Given the description of an element on the screen output the (x, y) to click on. 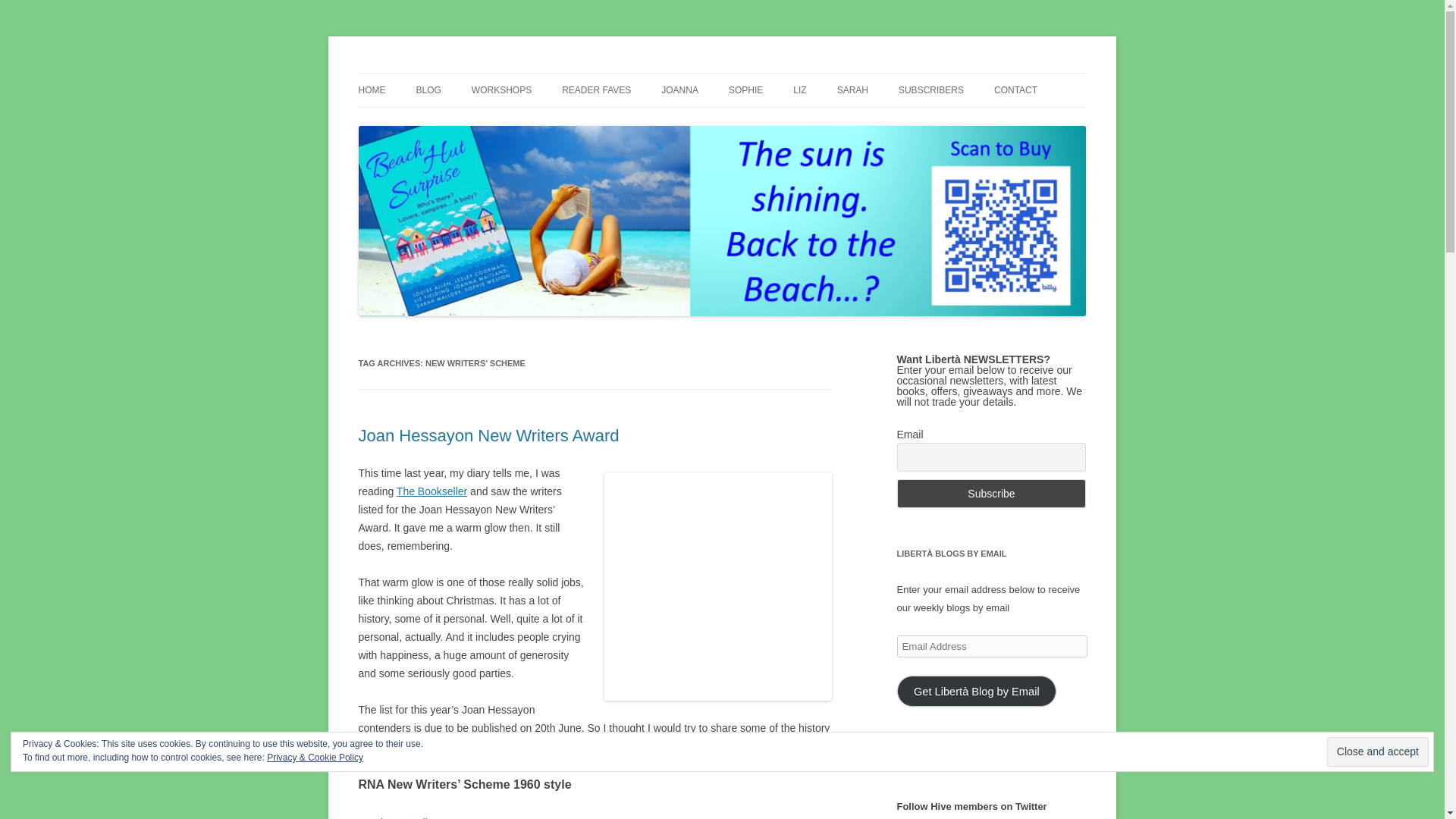
JOANNA (679, 90)
WORKSHOPS (501, 90)
Joan Hessayon New Writers Award (488, 435)
Liberta Books (423, 72)
CONTACT (1015, 90)
READER FAVES (596, 90)
Subscribe (991, 493)
SARAH (852, 90)
The Bookseller (431, 491)
